Given the description of an element on the screen output the (x, y) to click on. 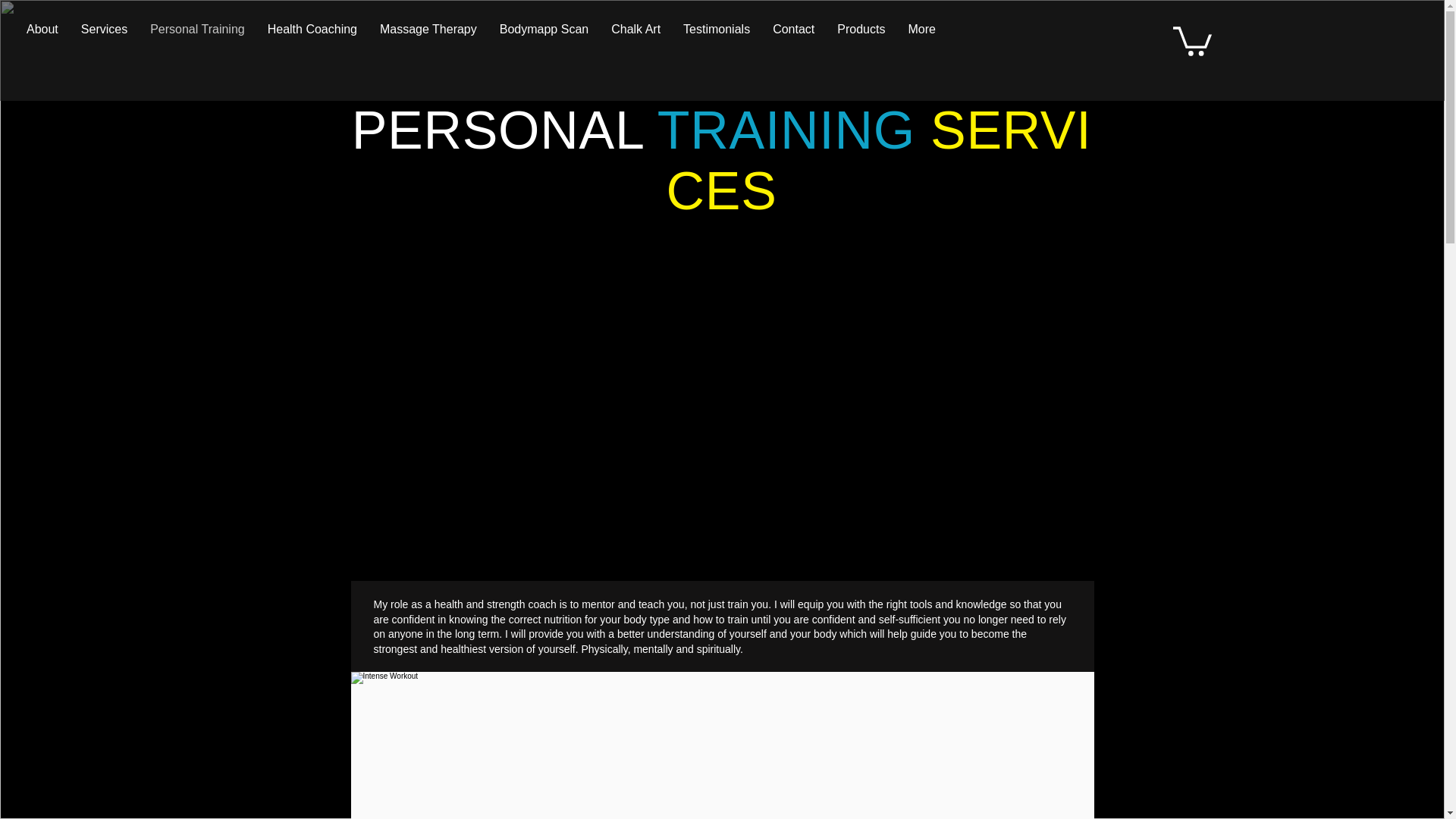
Massage Therapy (427, 34)
Testimonials (716, 34)
Health Coaching (312, 34)
Chalk Art (635, 34)
Personal Training (197, 34)
Products (860, 34)
Bodymapp Scan (543, 34)
Services (103, 34)
About (41, 34)
Contact (793, 34)
